Given the description of an element on the screen output the (x, y) to click on. 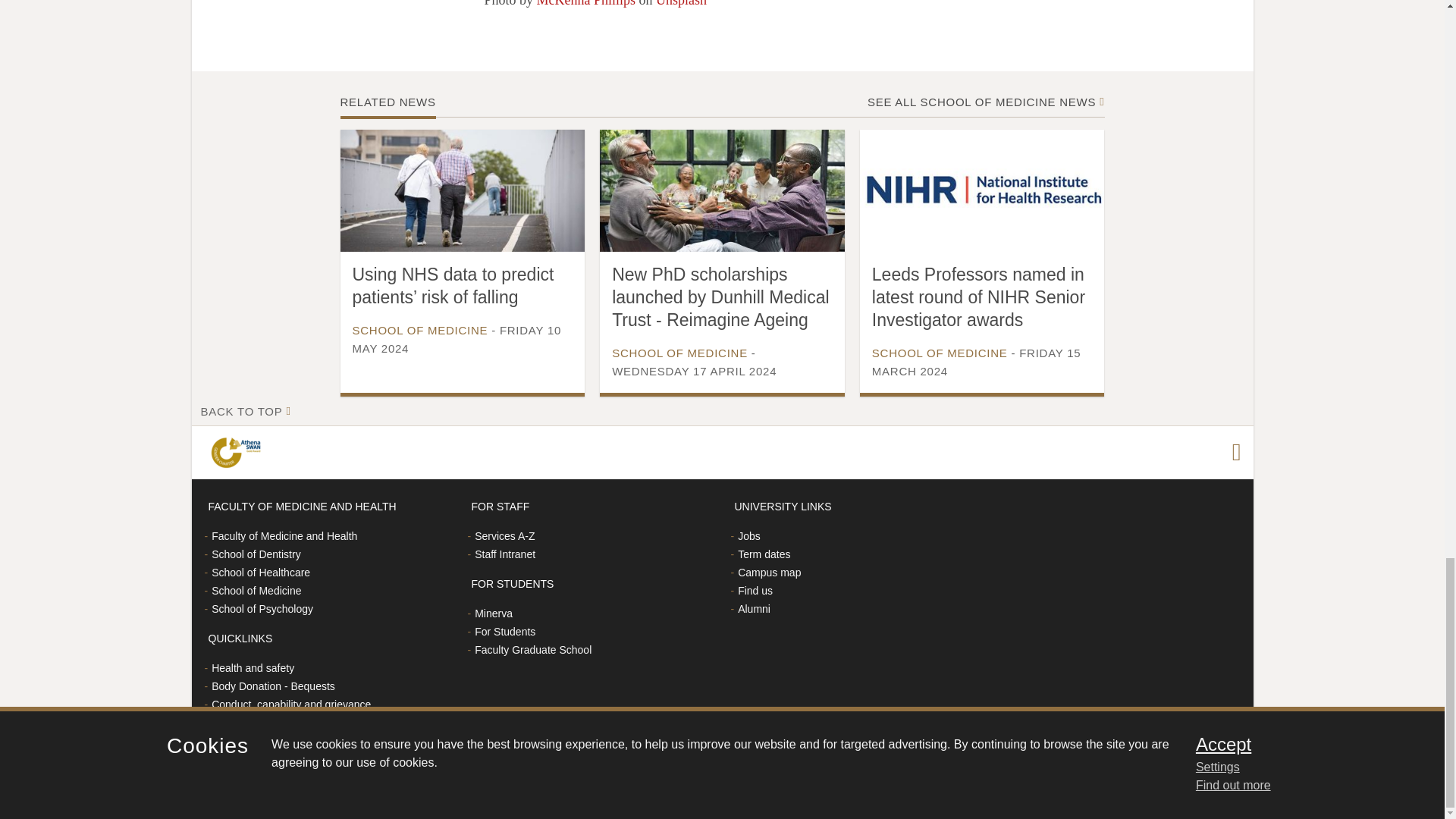
Go to Twitter page (1236, 452)
Visit Athena SWAN Gold (238, 452)
